Given the description of an element on the screen output the (x, y) to click on. 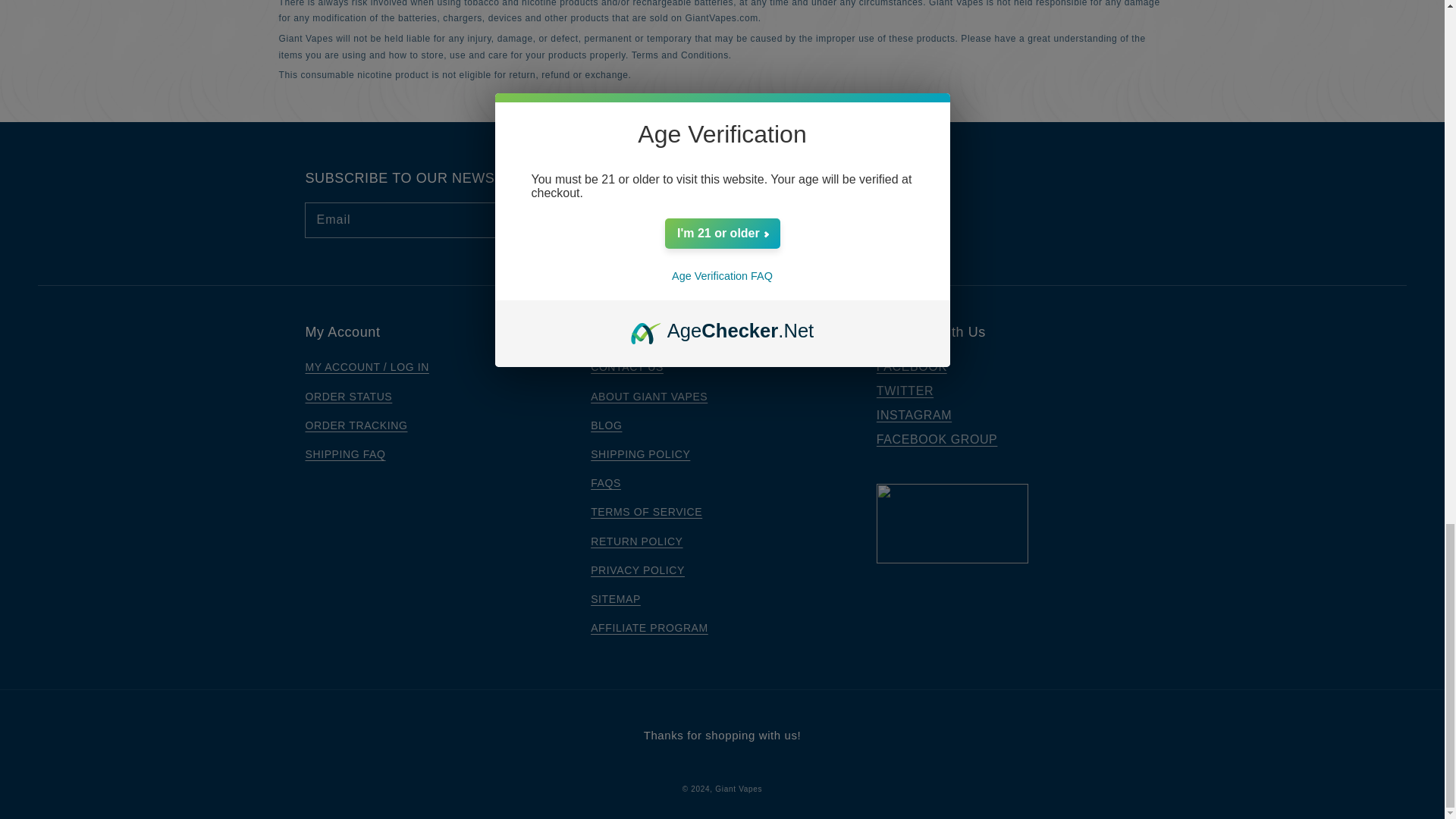
Shop the latest in Delta 8-THC products at DISCO 8 (983, 461)
Giant Vapes Facebook Page (911, 366)
Giant Vapes Facebook Group (936, 439)
Giant Vapes Twitter Profile (904, 390)
Giant Vapes Instagram page (914, 414)
